Given the description of an element on the screen output the (x, y) to click on. 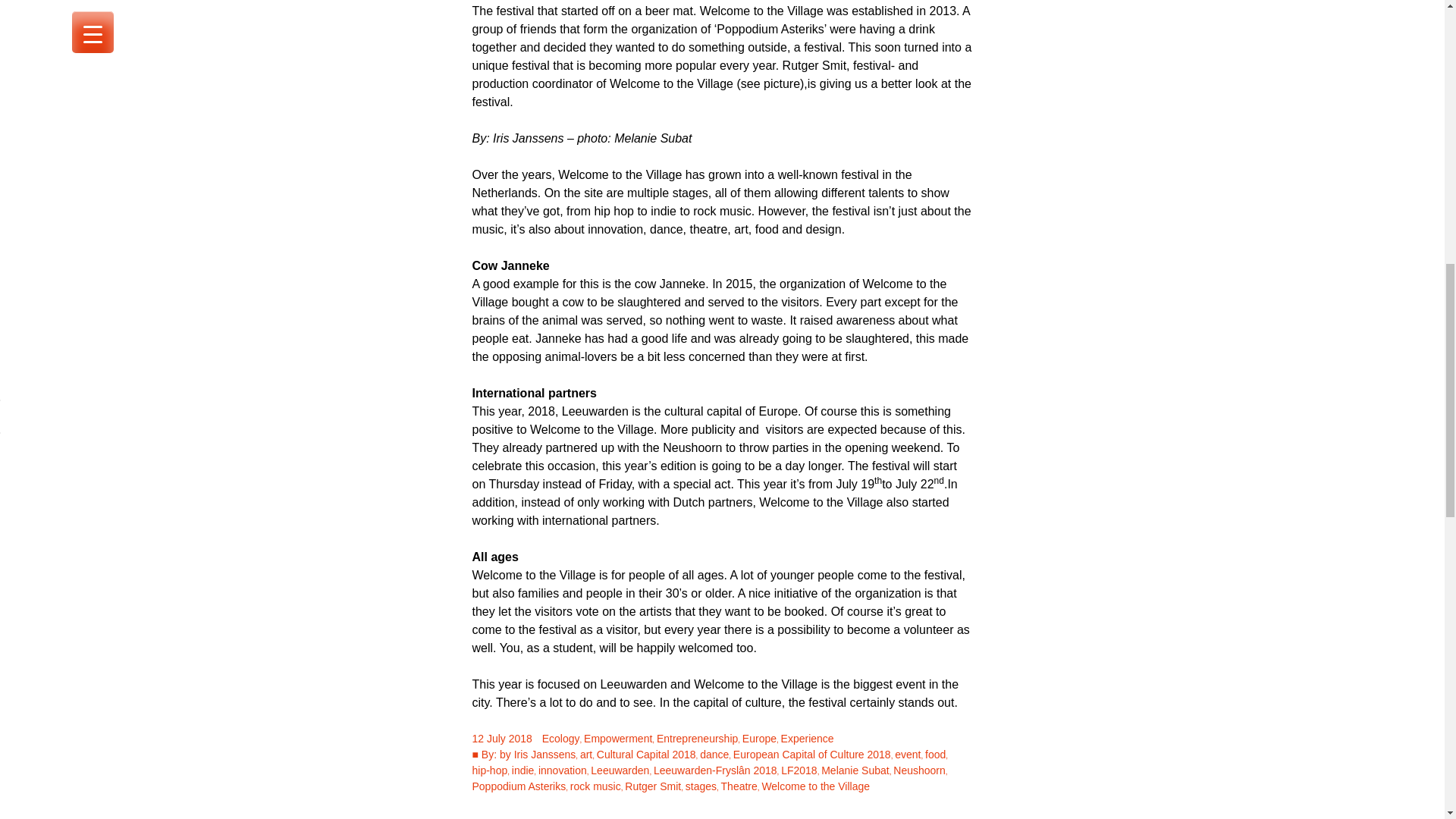
LF2018 (798, 770)
art (585, 754)
Melanie Subat (855, 770)
indie (523, 770)
stages (700, 786)
Rutger Smit (652, 786)
Empowerment (617, 738)
hip-hop (488, 770)
dance (714, 754)
Welcome to the Village (815, 786)
European Capital of Culture 2018 (812, 754)
10:41 (501, 738)
Poppodium Asteriks (518, 786)
Neushoorn (918, 770)
12 July 2018 (501, 738)
